Given the description of an element on the screen output the (x, y) to click on. 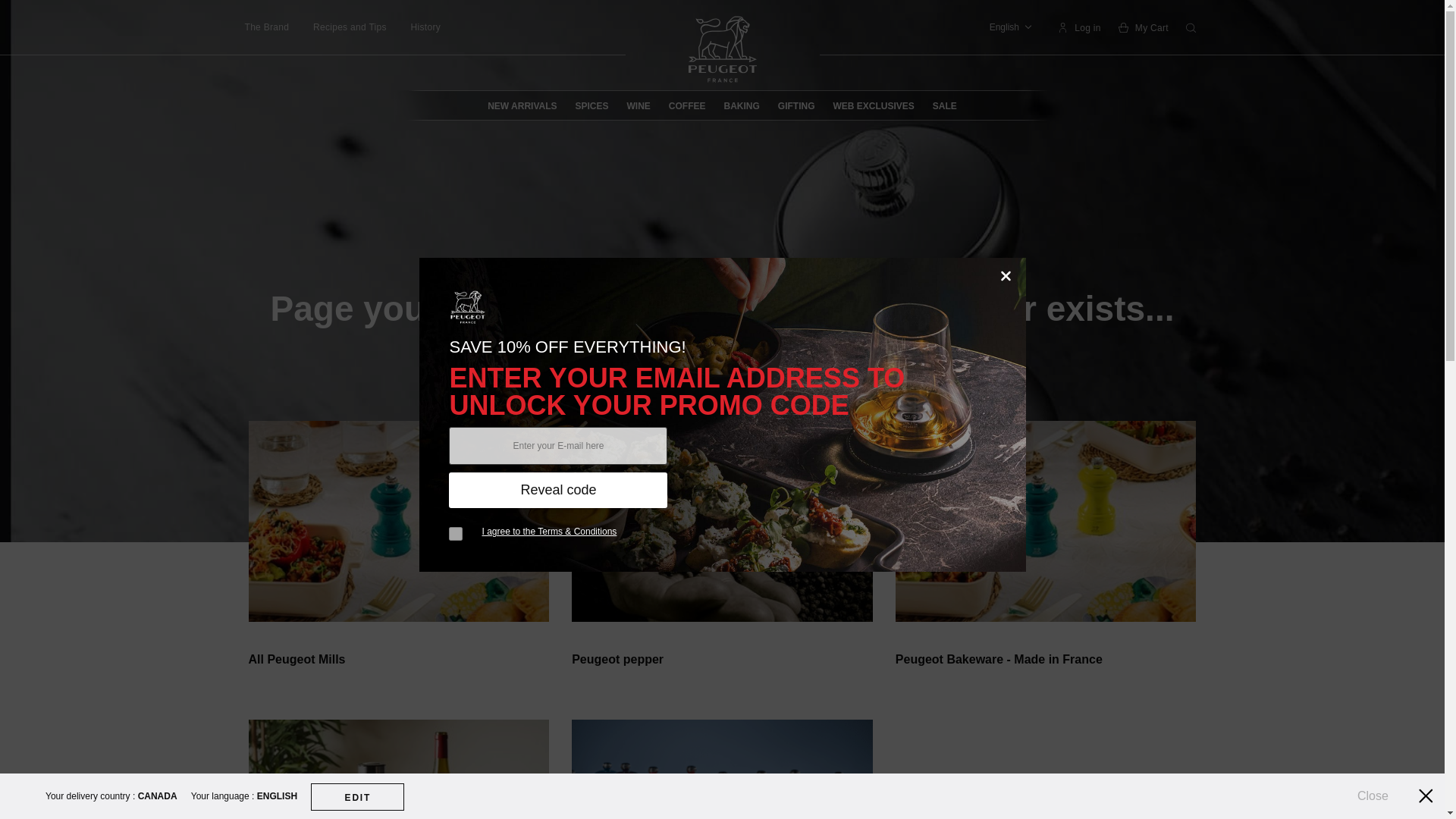
Peugeot Saveurs (721, 49)
NEW ARRIVALS (521, 104)
Close (1425, 795)
Reveal code (557, 489)
Log in (1078, 27)
My Cart (1143, 27)
agb (455, 533)
The Brand (266, 27)
Recipes and Tips (349, 27)
EDIT (357, 796)
